Given the description of an element on the screen output the (x, y) to click on. 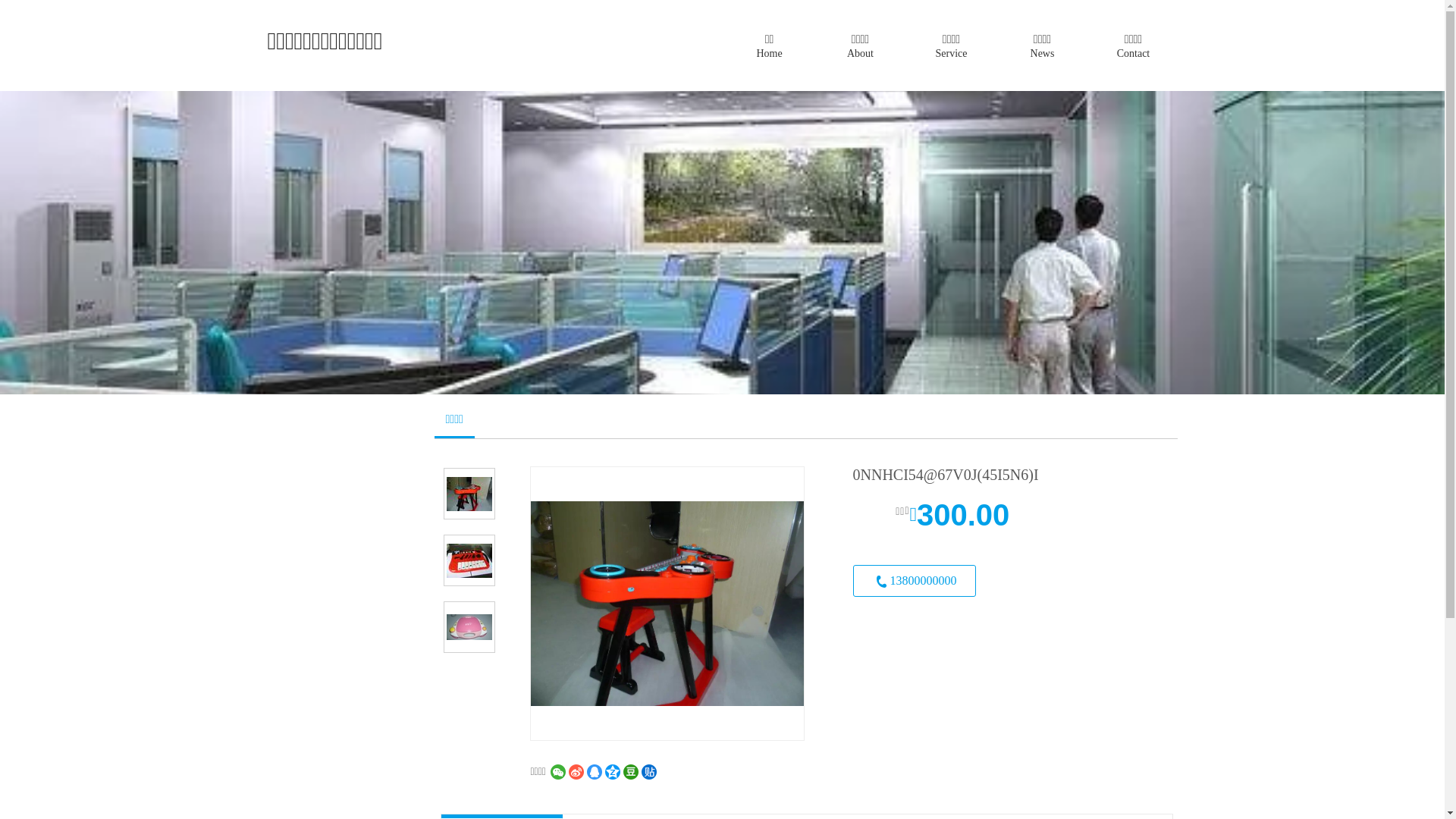
13800000000 Element type: text (913, 580)
